Given the description of an element on the screen output the (x, y) to click on. 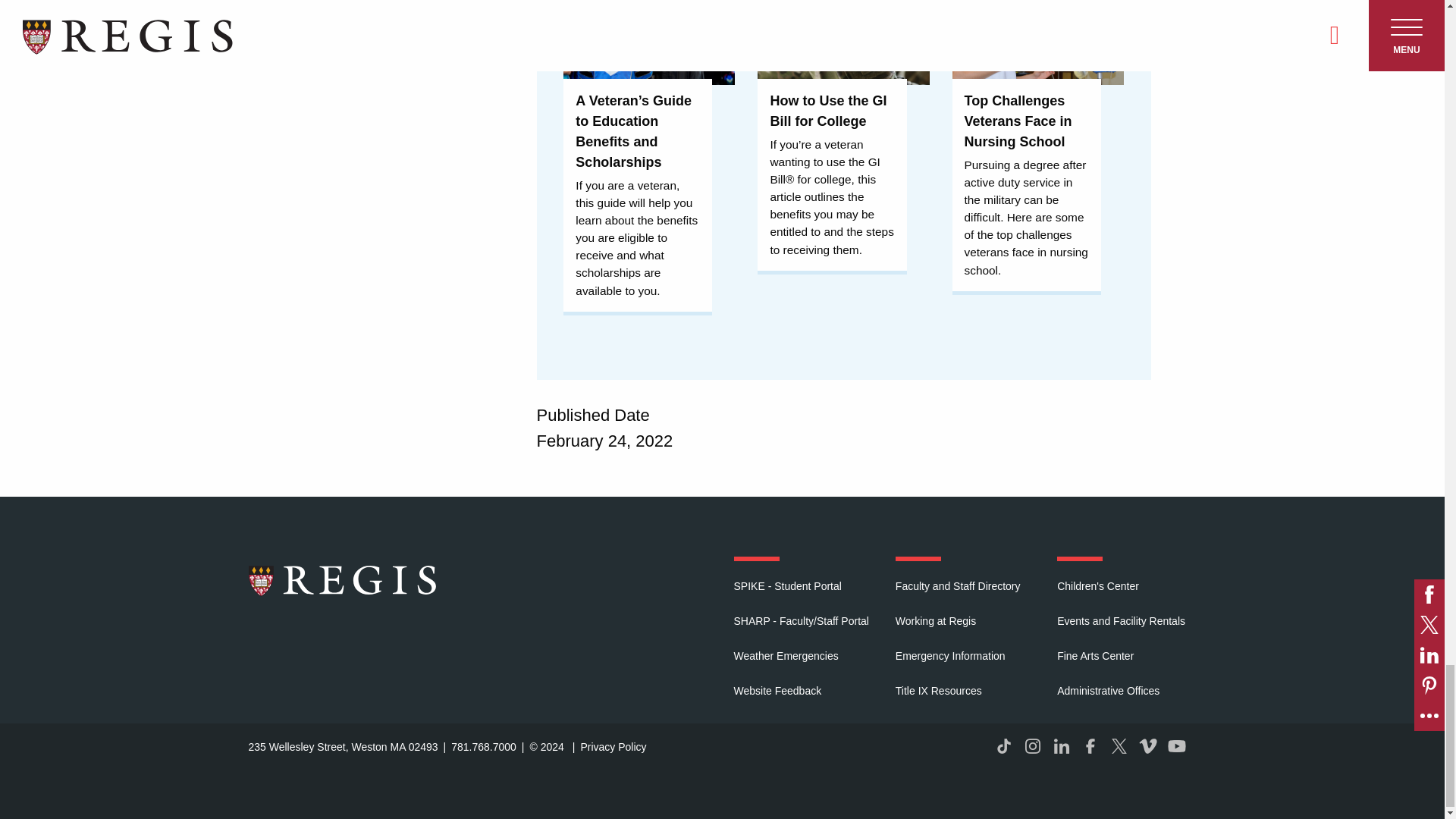
Join the Regis team! (935, 620)
Get in touch with Regis faculty and staff (957, 585)
The Student Portal for Information, Knowledge and Education (787, 585)
Start Here All Regis Personnel (801, 620)
